Given the description of an element on the screen output the (x, y) to click on. 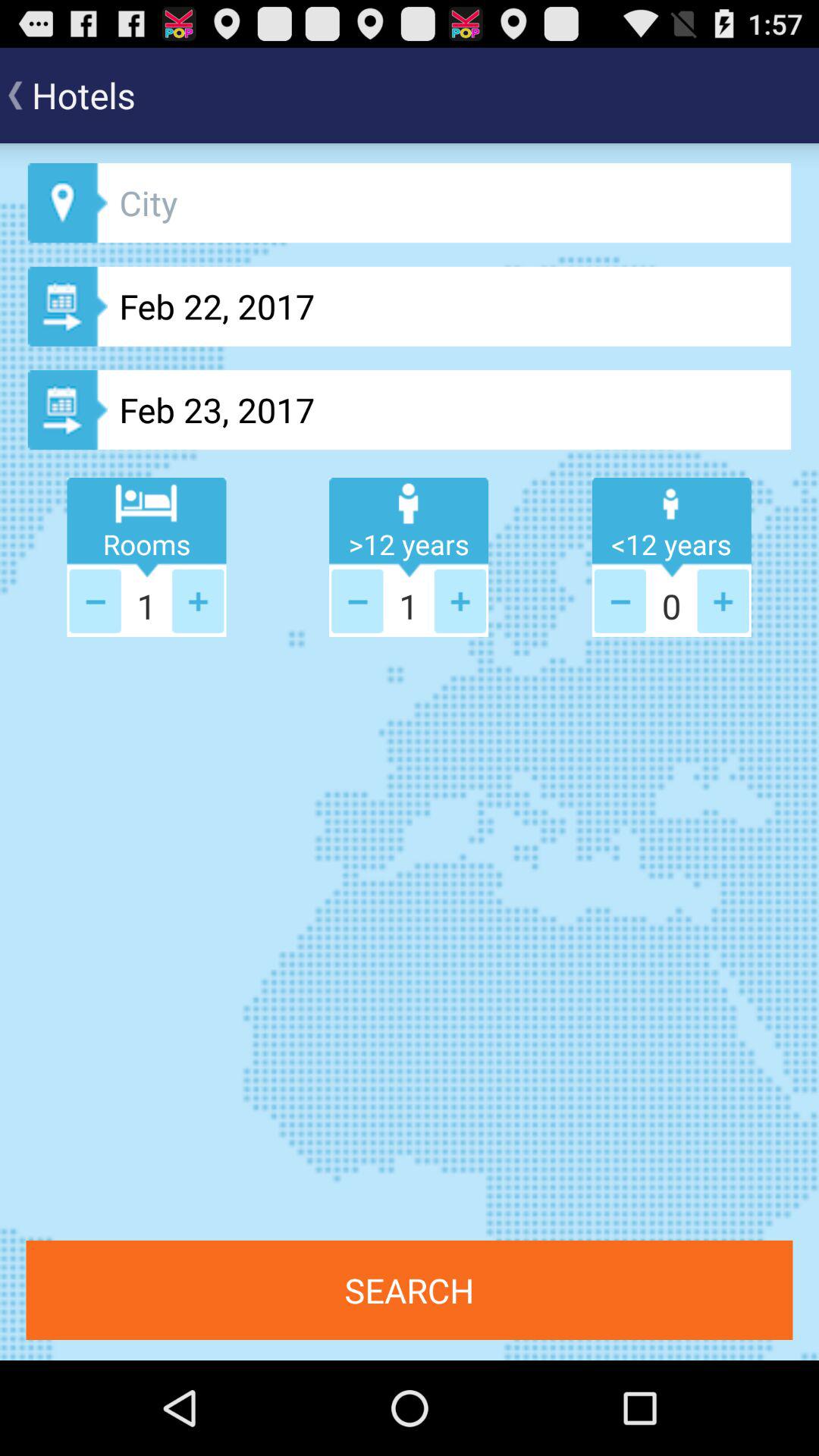
less age (357, 601)
